Given the description of an element on the screen output the (x, y) to click on. 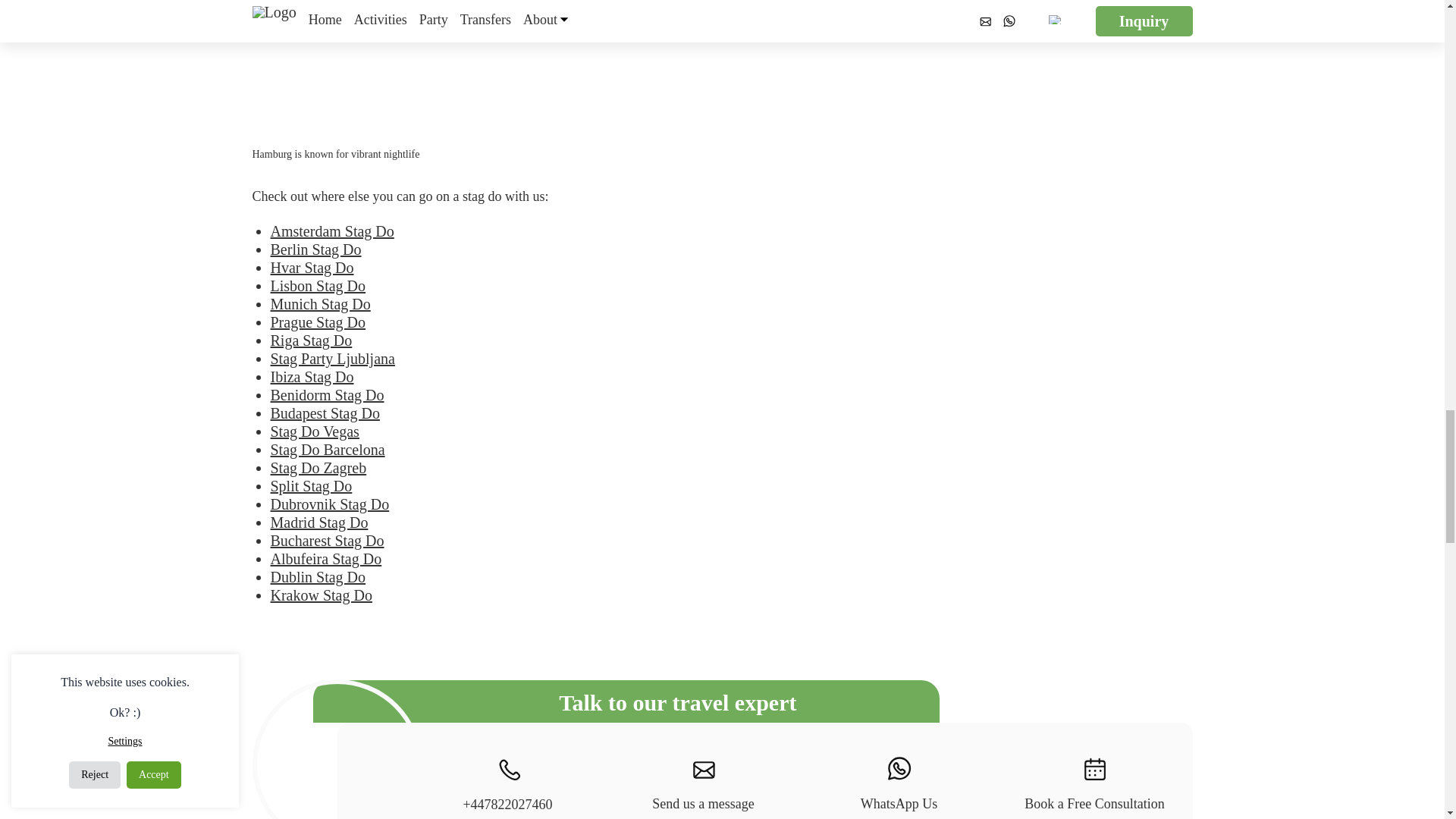
Amsterdam Stag Do (331, 230)
Hvar Stag Do (311, 267)
Berlin Stag Do (315, 248)
